Given the description of an element on the screen output the (x, y) to click on. 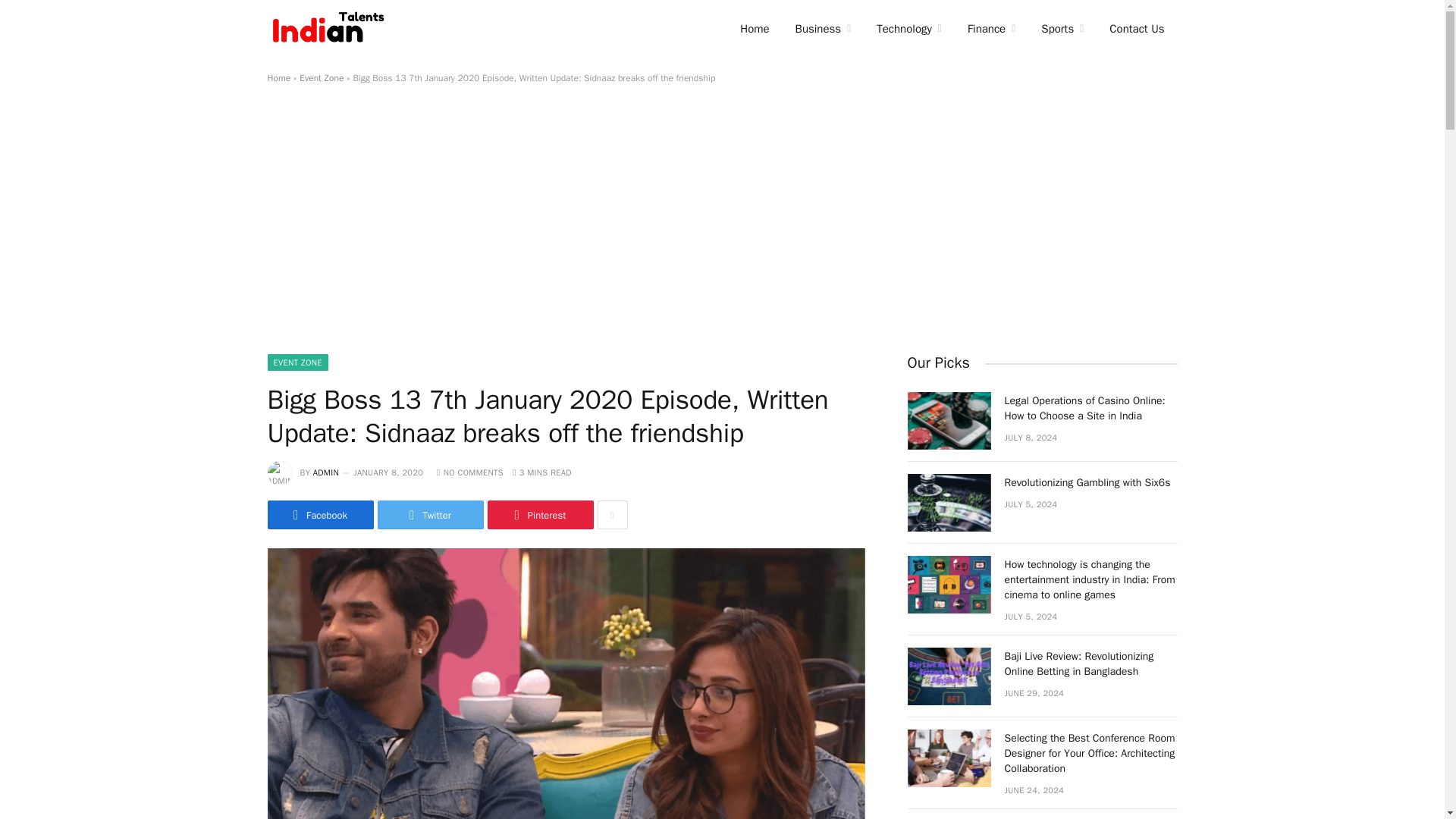
Indian Talents (330, 28)
Home (753, 28)
Business (823, 28)
Technology (909, 28)
Finance (991, 28)
